Given the description of an element on the screen output the (x, y) to click on. 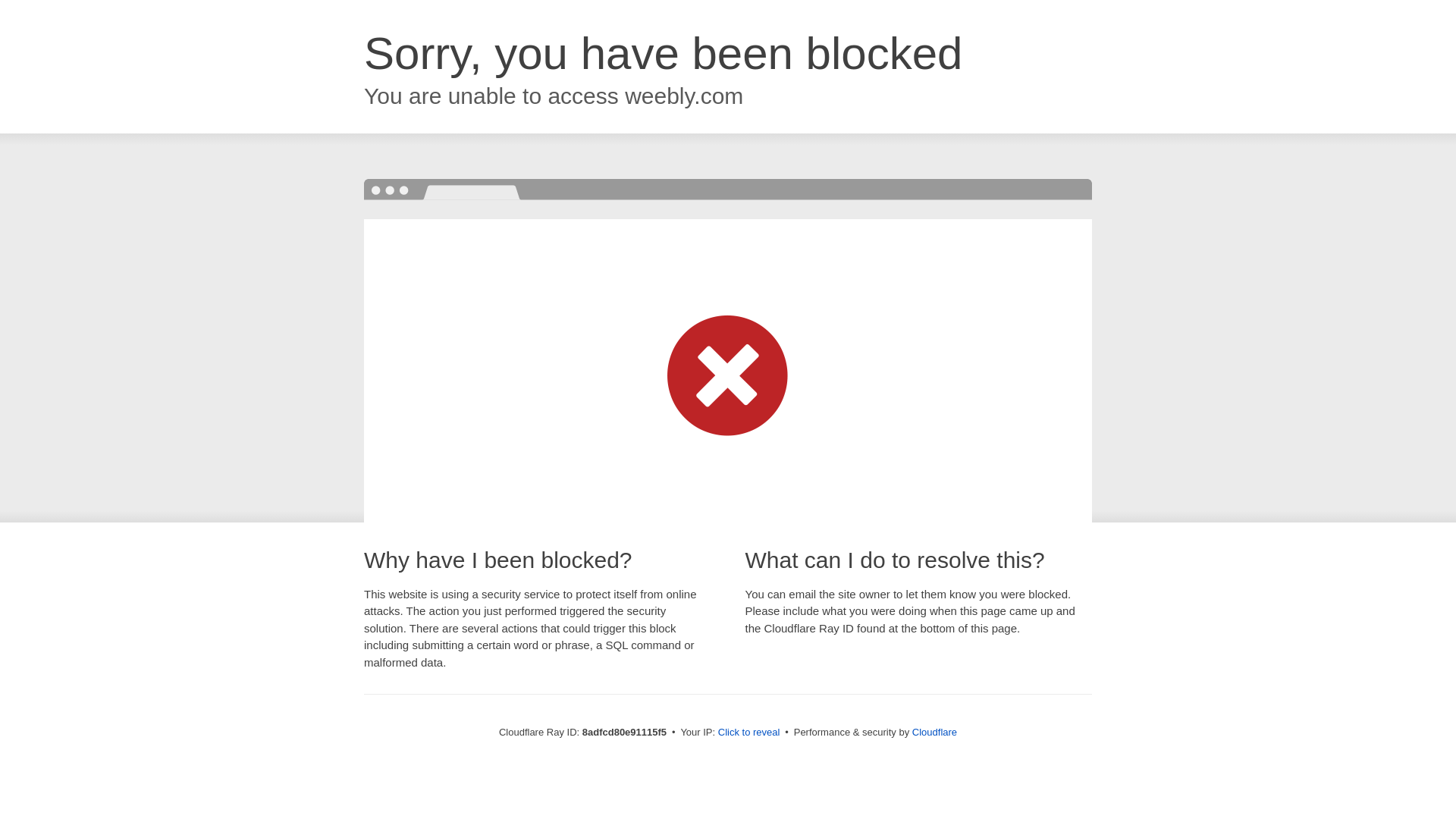
Click to reveal (748, 732)
Cloudflare (934, 731)
